Given the description of an element on the screen output the (x, y) to click on. 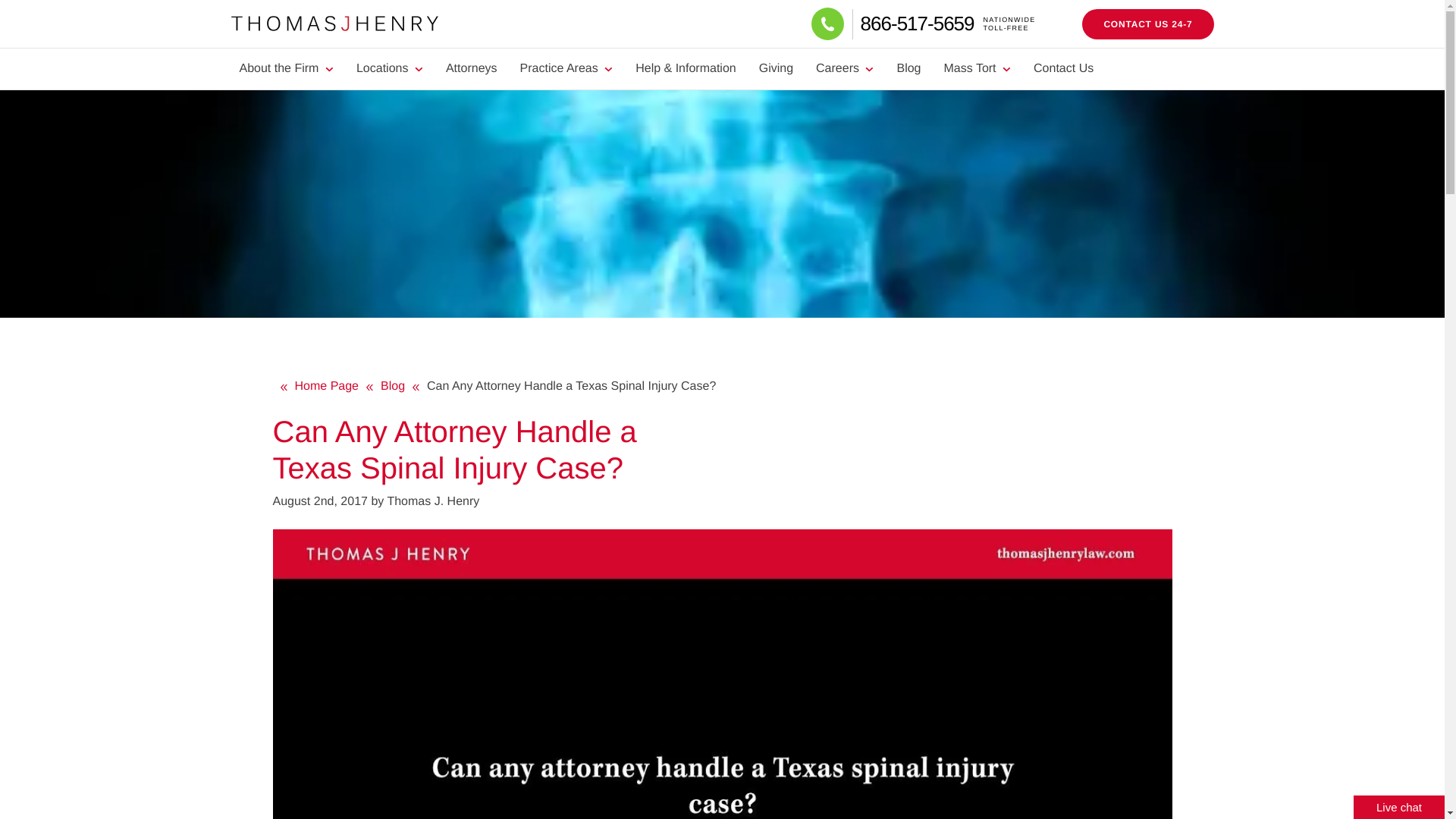
Giving (776, 68)
Locations (389, 68)
Practice Areas (566, 68)
Attorneys (470, 68)
CONTACT US 24-7 (1146, 24)
About the Firm (946, 23)
CONTACT US 24-7 (285, 68)
Careers (1146, 24)
